Given the description of an element on the screen output the (x, y) to click on. 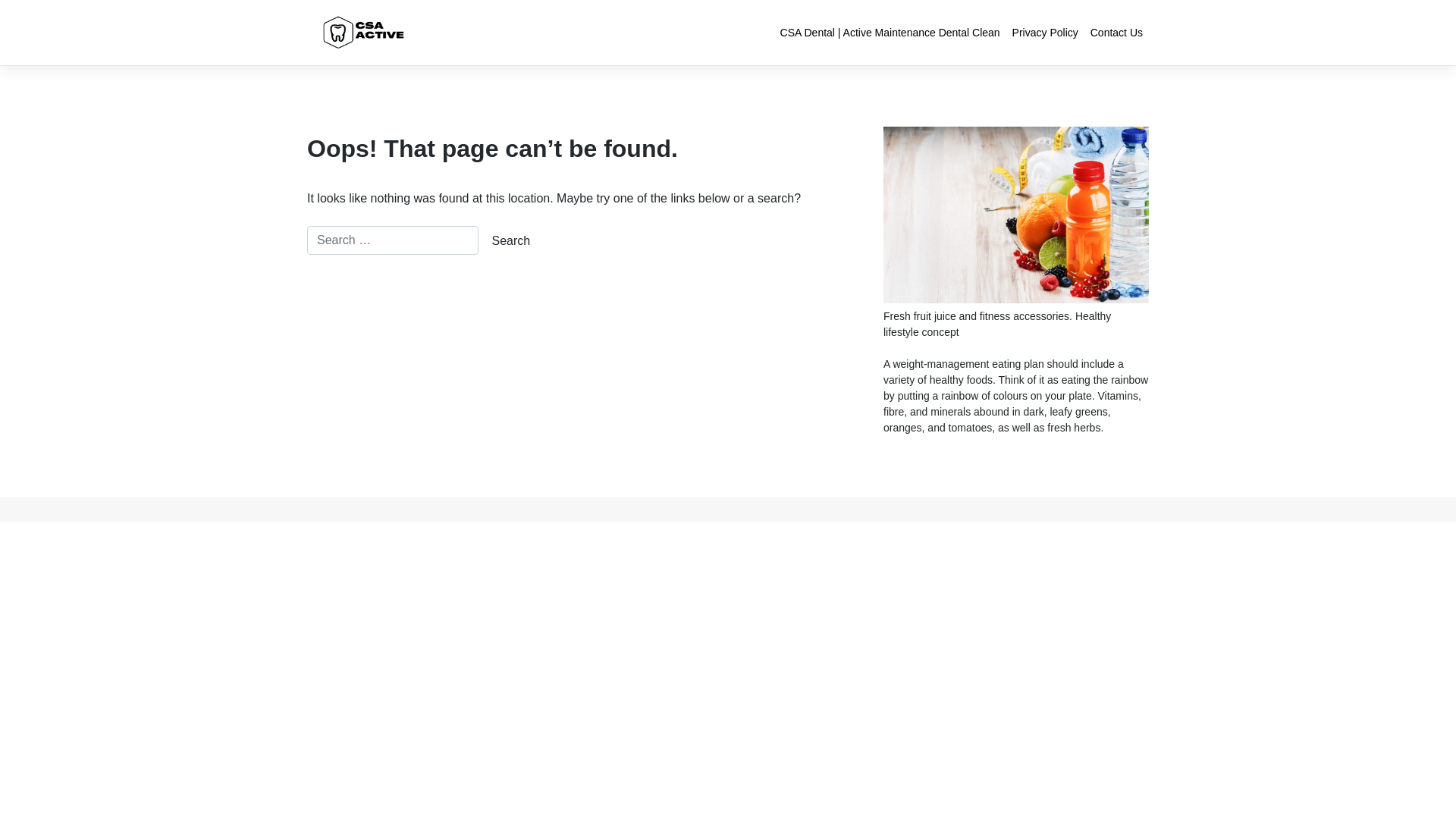
CSA Dental | Active Maintenance Dental Clean Element type: text (890, 32)
Search Element type: text (510, 240)
Search for: Element type: hover (392, 239)
Privacy Policy Element type: text (1045, 32)
Contact Us Element type: text (1116, 32)
